Given the description of an element on the screen output the (x, y) to click on. 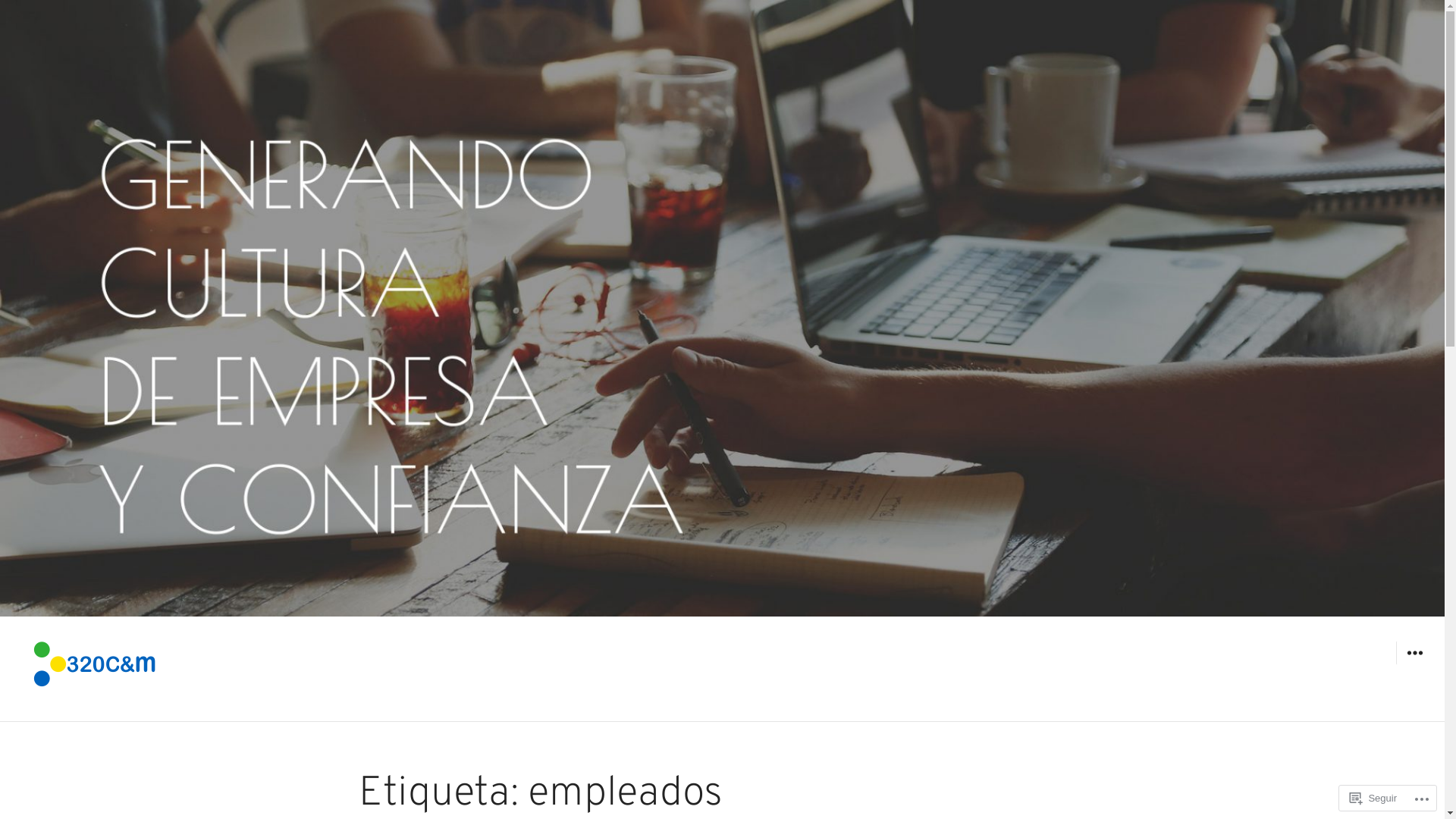
Seguir Element type: text (1372, 797)
WIDGETS Element type: text (1414, 652)
